Given the description of an element on the screen output the (x, y) to click on. 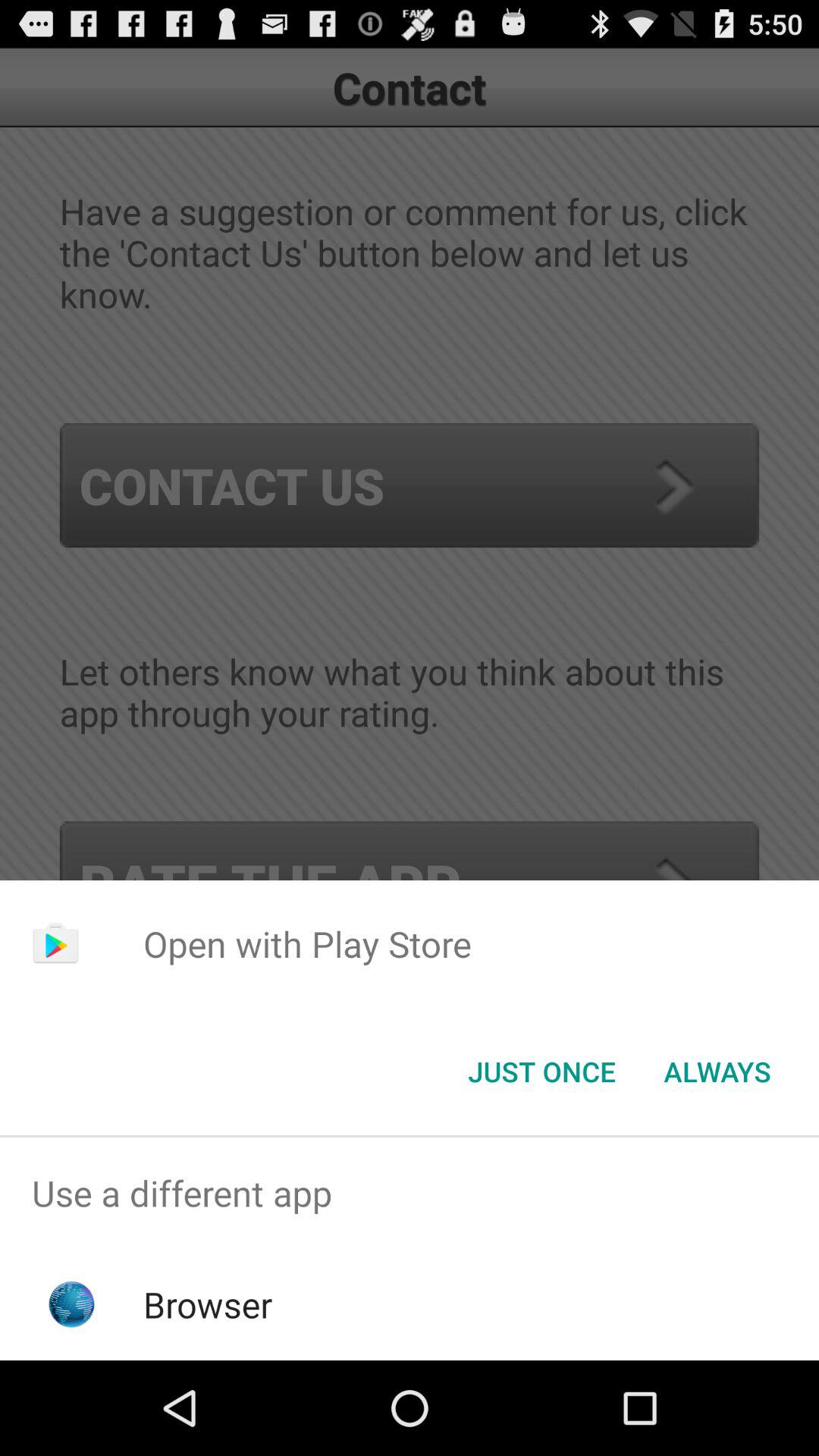
launch just once button (541, 1071)
